Given the description of an element on the screen output the (x, y) to click on. 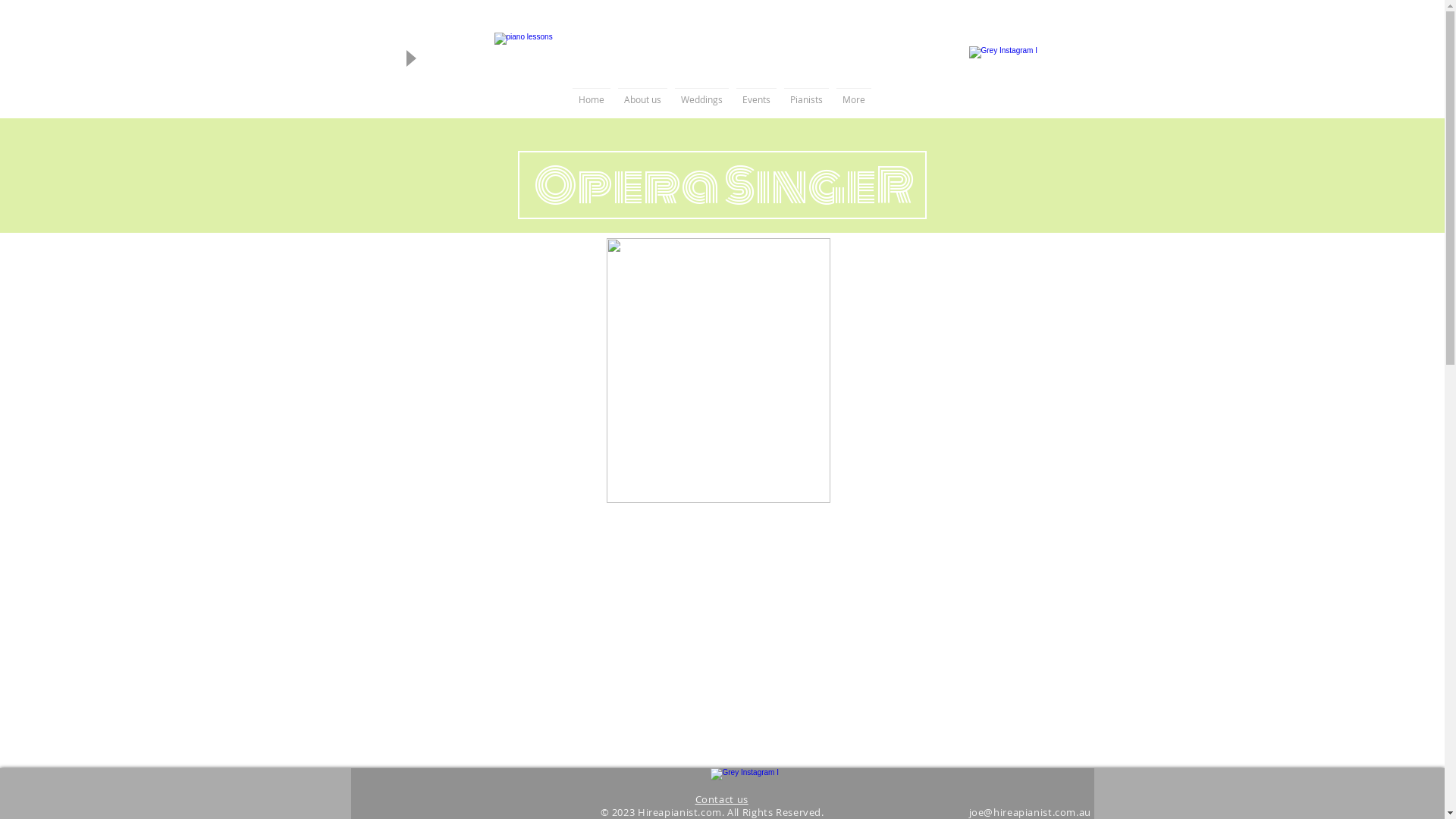
Opera singer Element type: hover (718, 370)
Home Element type: text (591, 99)
About us Element type: text (642, 99)
Contact us Element type: text (720, 799)
Weddings Element type: text (701, 99)
piano lessons Element type: hover (721, 58)
Events Element type: text (756, 99)
